Given the description of an element on the screen output the (x, y) to click on. 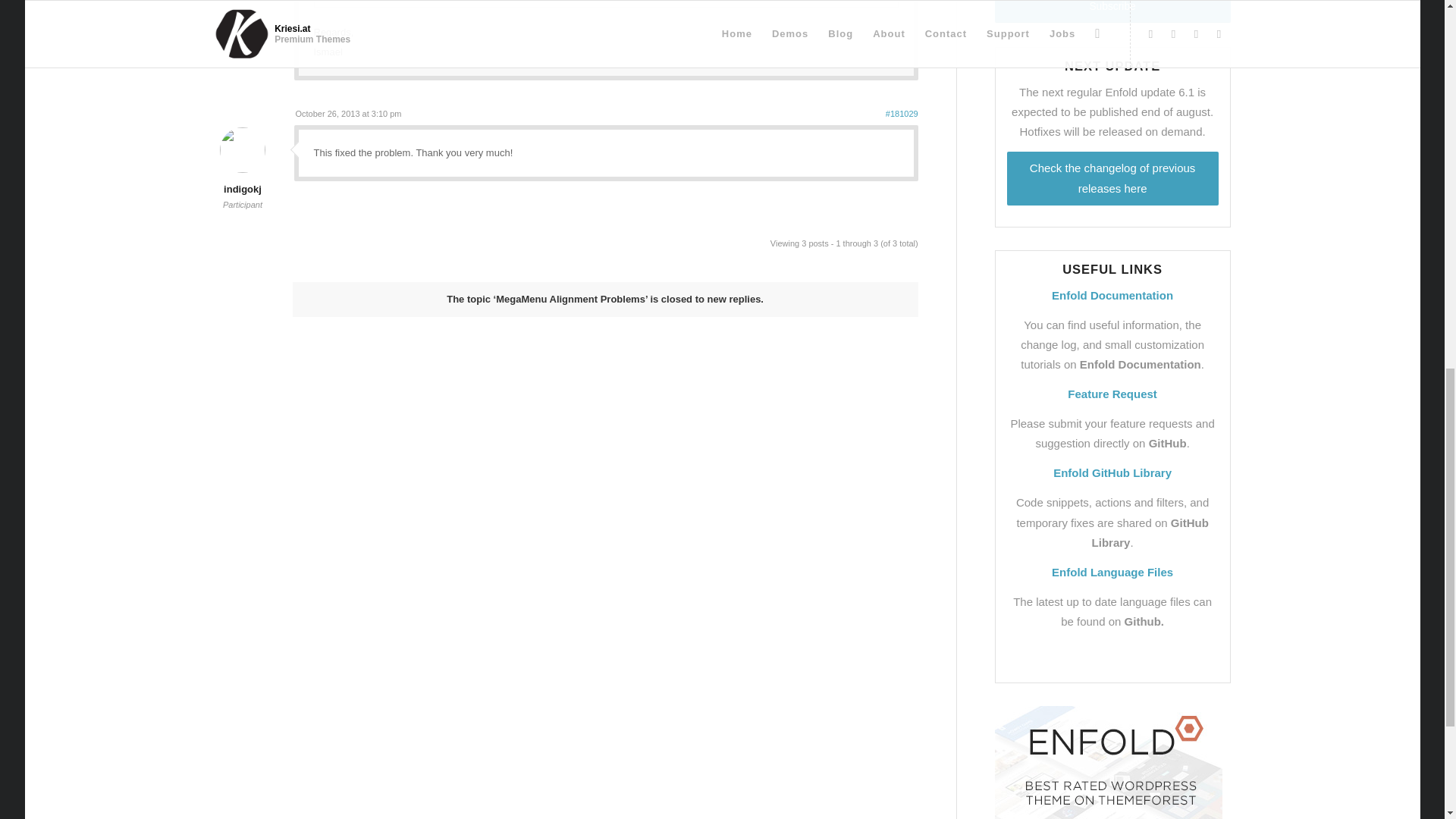
Check the changelog of previous releases here (1112, 178)
Subscribe (1112, 11)
Participant (242, 204)
View indigokj's profile (241, 178)
Subscribe (1112, 11)
indigokj (241, 178)
